Given the description of an element on the screen output the (x, y) to click on. 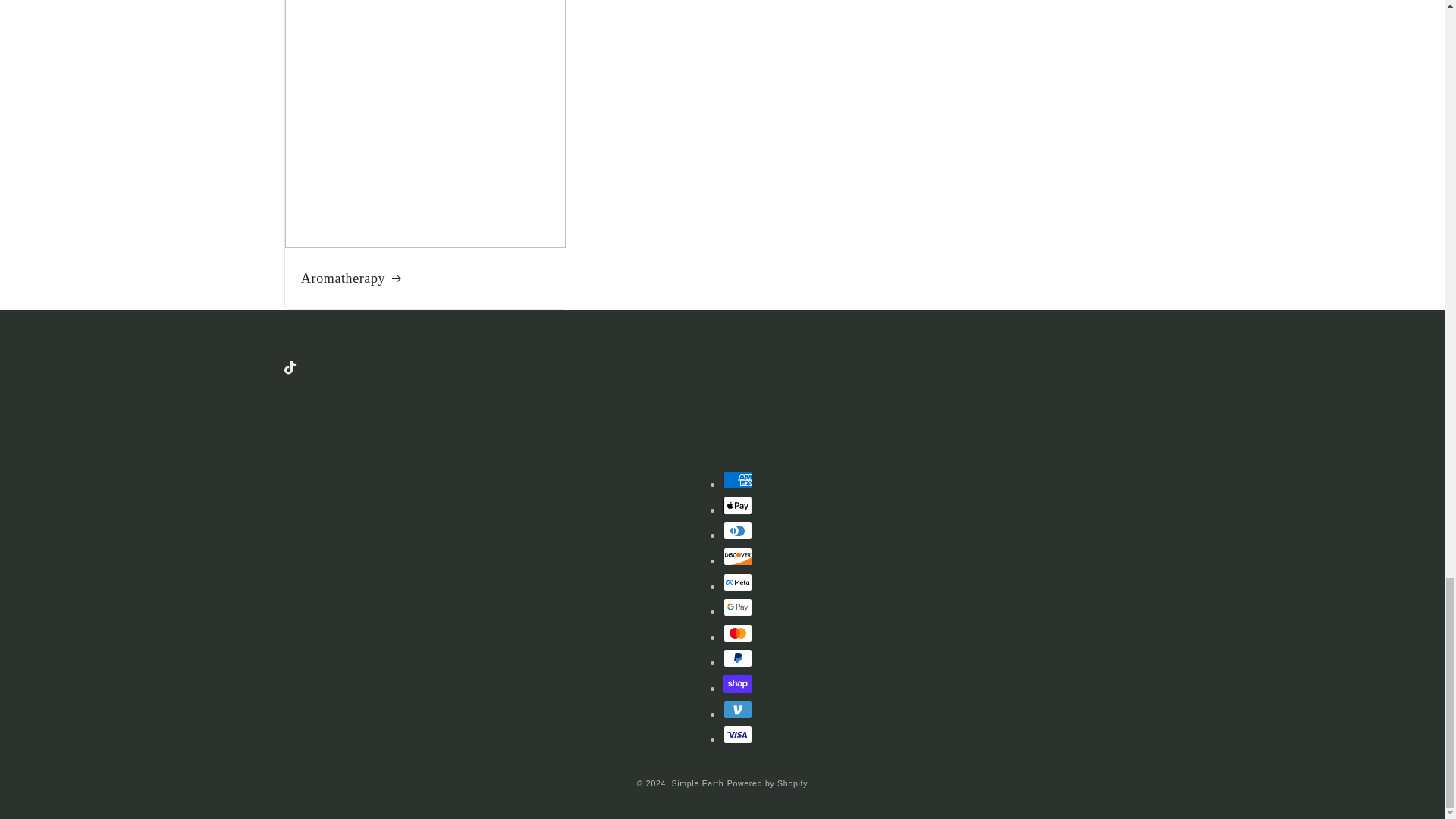
American Express (737, 479)
Mastercard (737, 633)
Diners Club (737, 530)
Meta Pay (737, 582)
Apple Pay (737, 505)
Google Pay (737, 607)
Discover (737, 556)
